Given the description of an element on the screen output the (x, y) to click on. 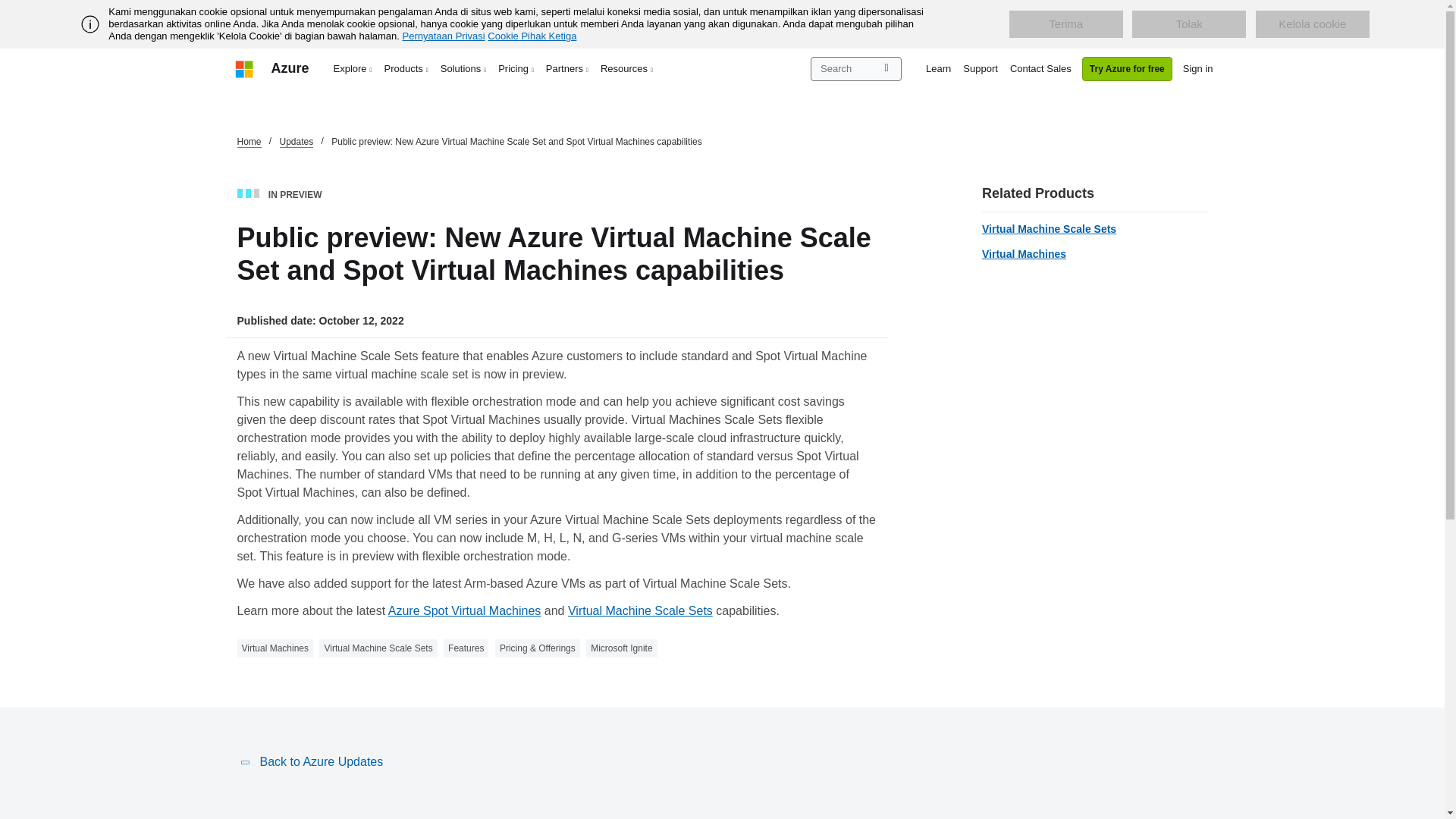
Cookie Pihak Ketiga (531, 35)
Skip to main content (7, 7)
Terima (1065, 23)
Explore (352, 68)
Kelola cookie (1312, 23)
Pernyataan Privasi (443, 35)
Azure (289, 68)
Products (405, 68)
Tolak (1189, 23)
